Given the description of an element on the screen output the (x, y) to click on. 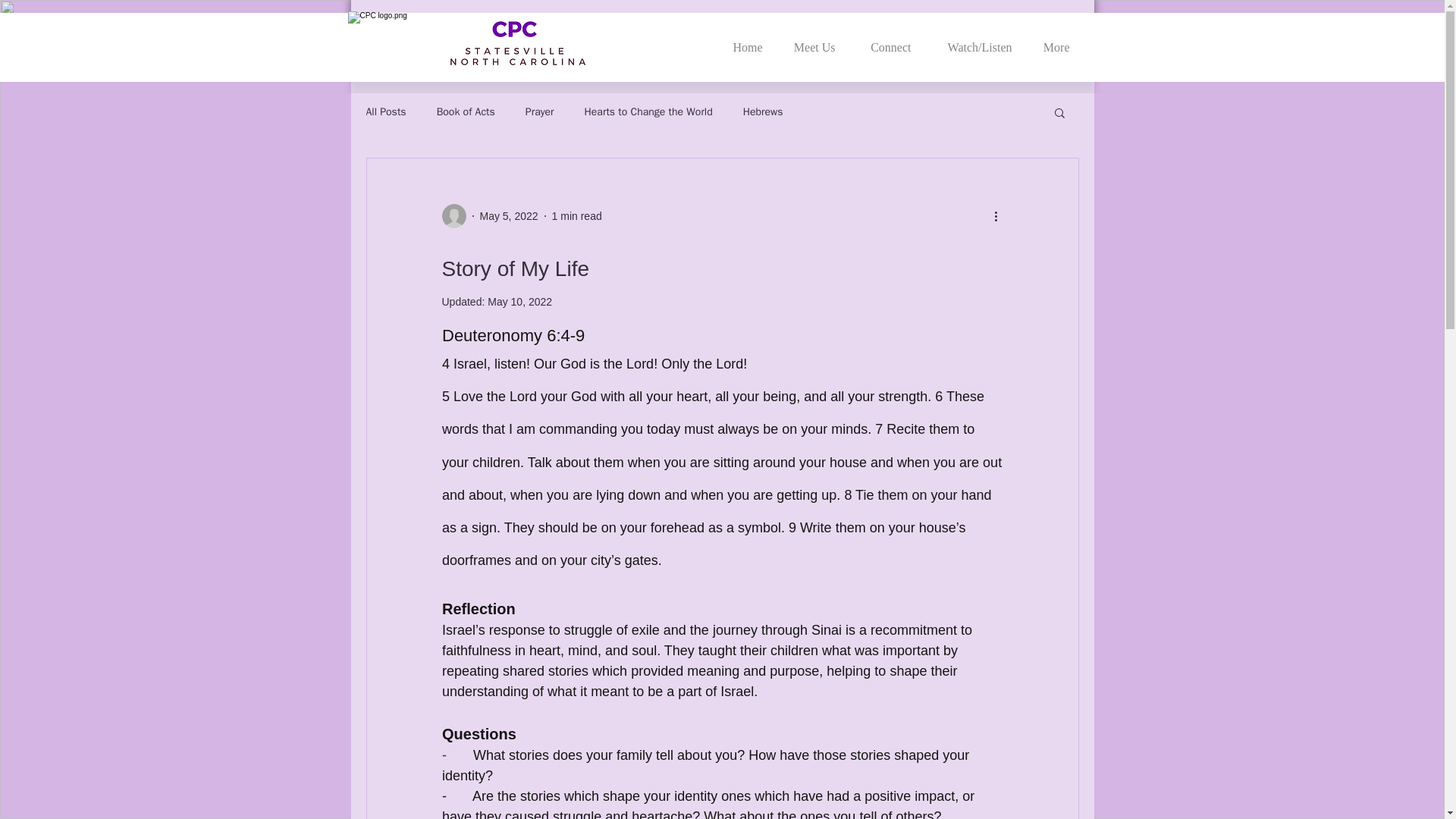
Prayer (539, 111)
Home (745, 40)
May 5, 2022 (508, 215)
All Posts (385, 111)
Meet Us (812, 40)
Hearts to Change the World (649, 111)
1 min read (576, 215)
Book of Acts (465, 111)
May 10, 2022 (519, 301)
Connect (886, 40)
Hebrews (762, 111)
